Given the description of an element on the screen output the (x, y) to click on. 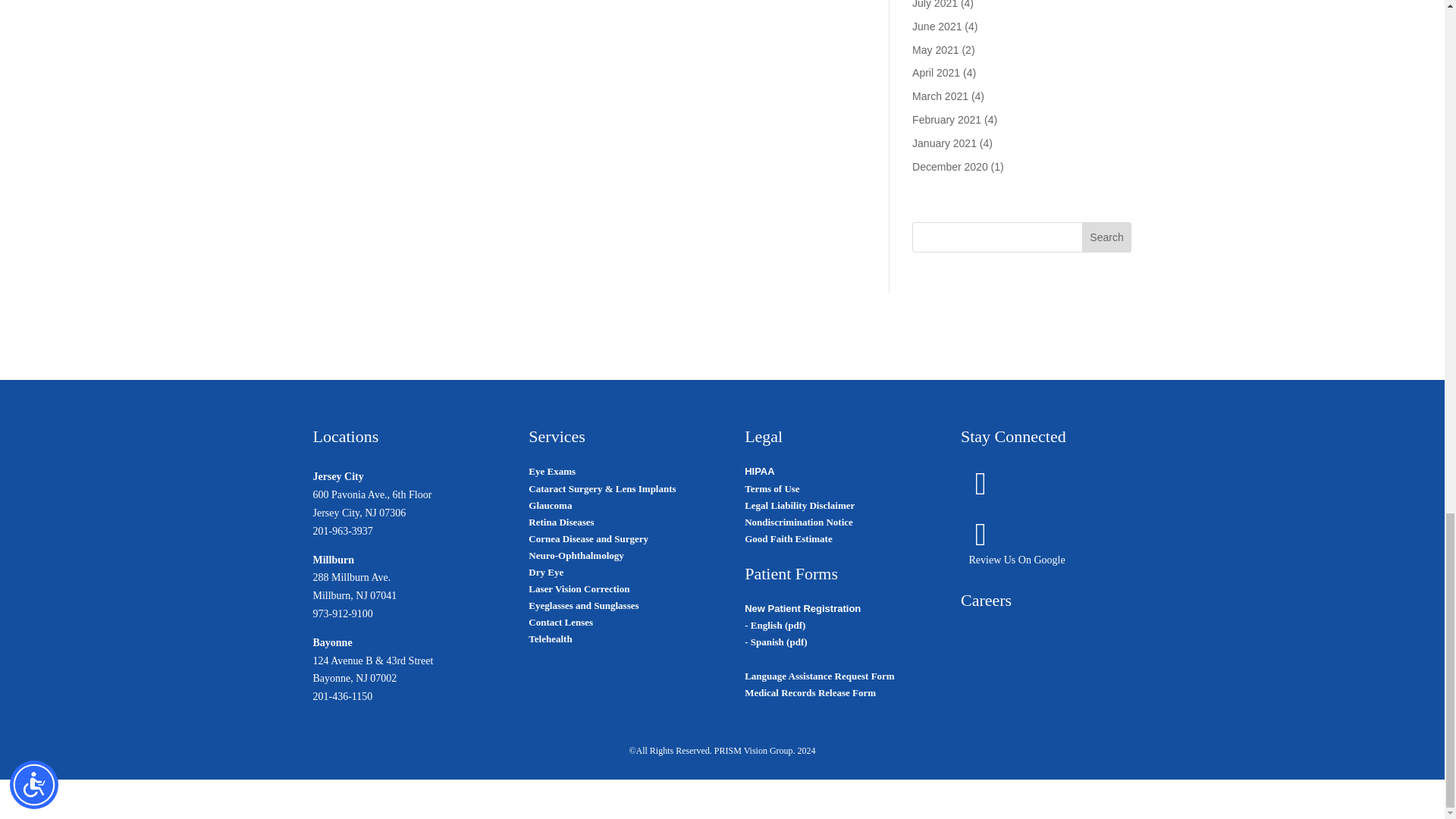
Search (1106, 236)
Facebook Link (980, 490)
